Given the description of an element on the screen output the (x, y) to click on. 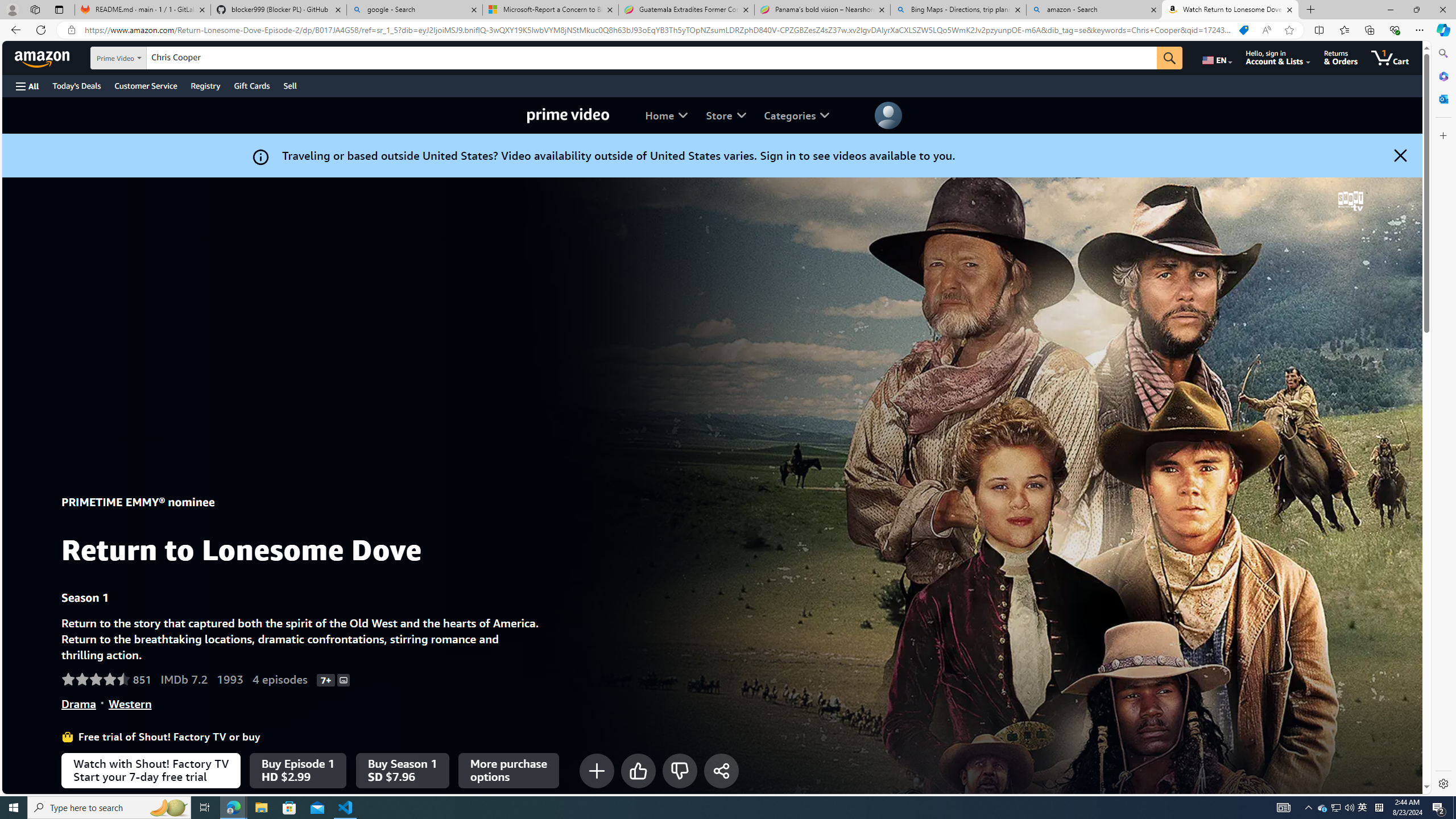
Channel logo (1350, 200)
Buy Season 1 SD $7.96 (402, 769)
Search in (146, 58)
Western (129, 703)
Today's Deals (76, 85)
Class: mO+eGr (679, 769)
Categories (796, 115)
Store (726, 115)
Registry (205, 85)
Skip to main content (48, 56)
